Given the description of an element on the screen output the (x, y) to click on. 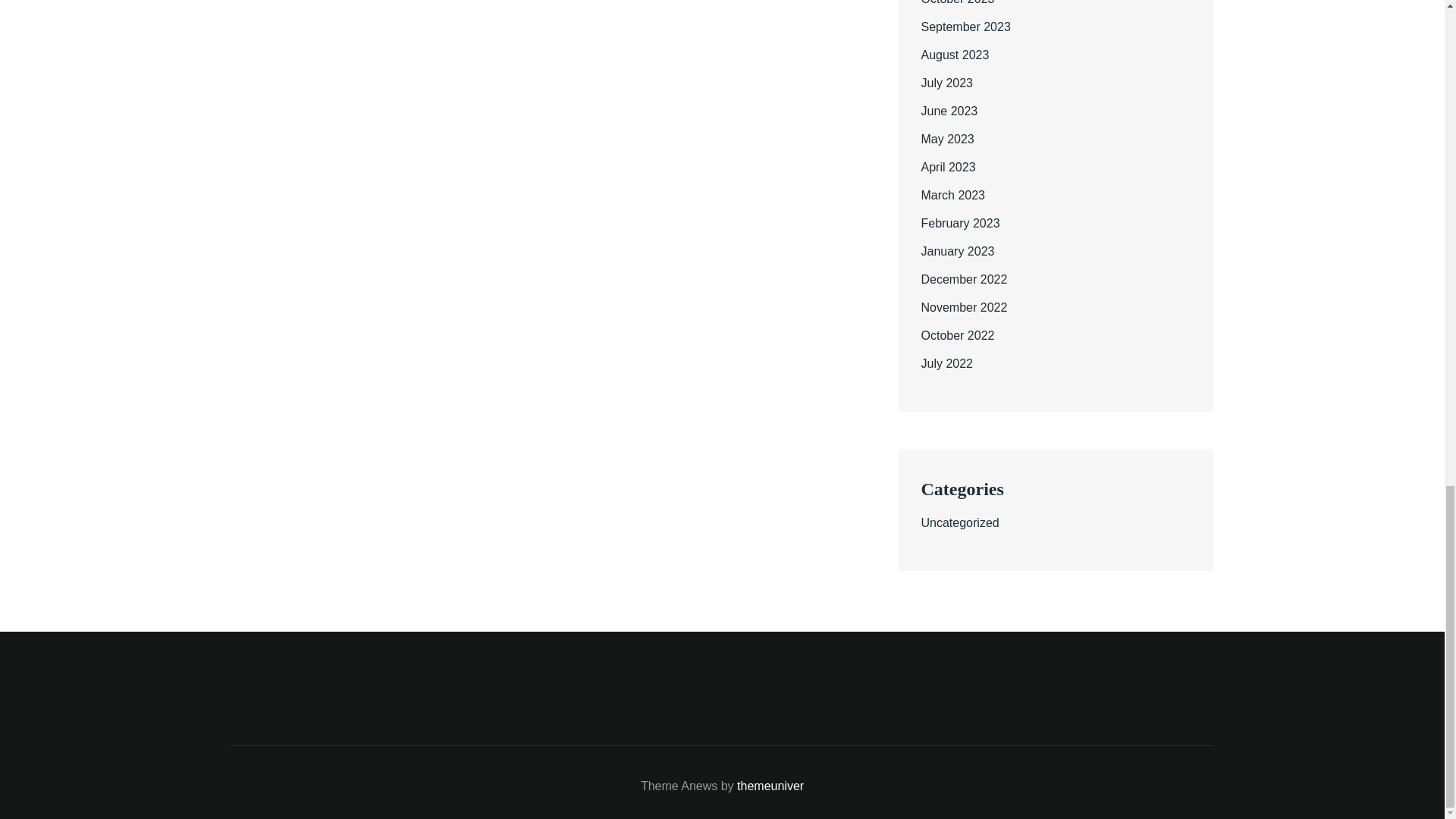
July 2023 (946, 82)
December 2022 (963, 278)
January 2023 (957, 250)
September 2023 (965, 26)
October 2022 (957, 335)
August 2023 (954, 54)
May 2023 (947, 138)
July 2022 (946, 363)
February 2023 (959, 223)
November 2022 (963, 307)
March 2023 (952, 195)
June 2023 (948, 110)
April 2023 (947, 166)
October 2023 (957, 2)
